Given the description of an element on the screen output the (x, y) to click on. 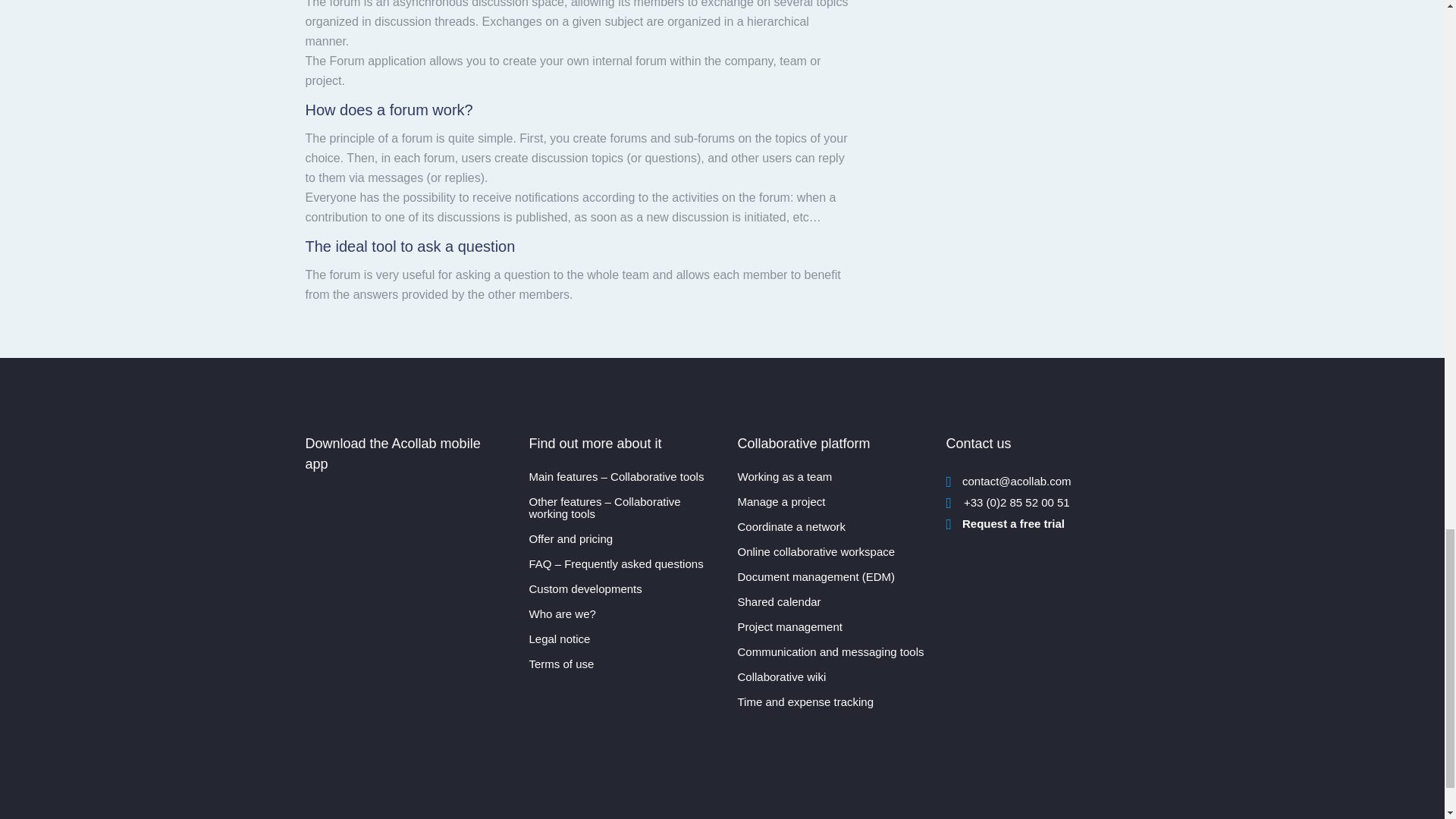
Terms of use (621, 664)
Who are we? (621, 613)
Custom developments (621, 589)
Manage a project (831, 501)
Download the Acollab mobile app (380, 514)
Working as a team (831, 476)
Coordinate a network (831, 526)
Online collaborative workspace (831, 551)
Shared calendar (831, 602)
forums (1008, 20)
Offer and pricing (621, 539)
Legal notice (621, 639)
